Given the description of an element on the screen output the (x, y) to click on. 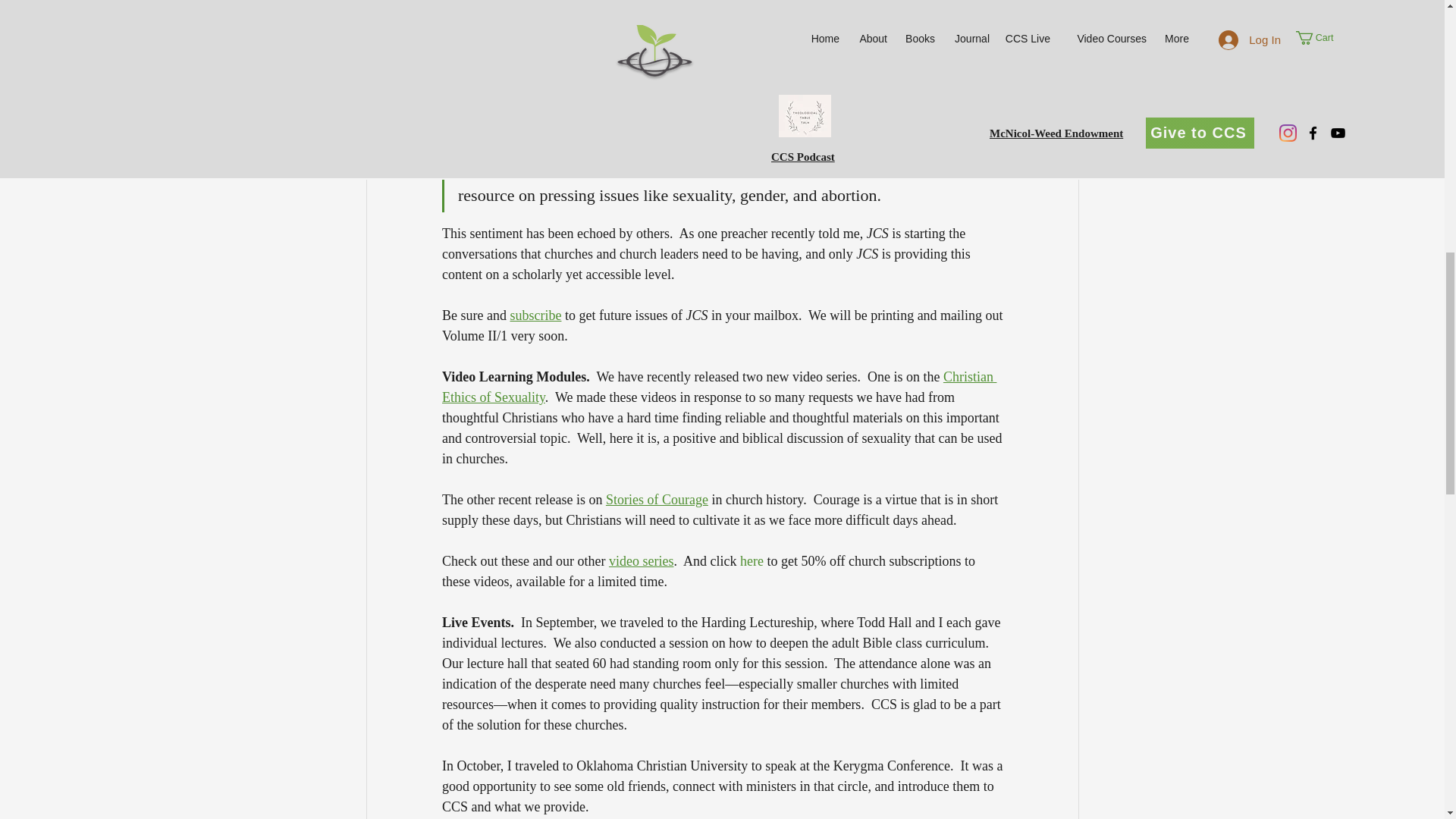
subscribe (534, 314)
video series (640, 560)
Christian Ethics of Sexuality (718, 386)
Stories of Courage (656, 499)
